Given the description of an element on the screen output the (x, y) to click on. 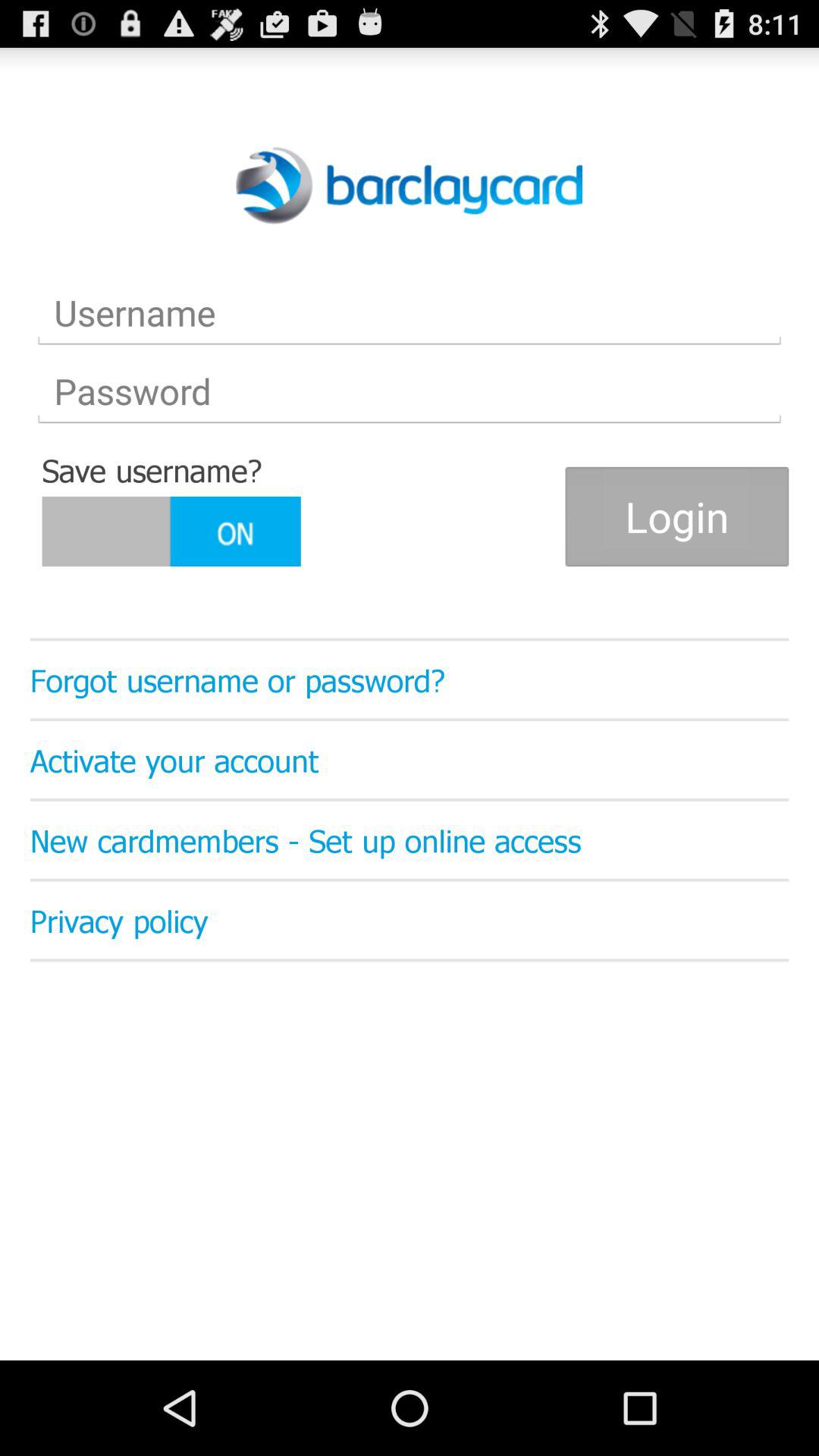
choose icon on the right (676, 516)
